Given the description of an element on the screen output the (x, y) to click on. 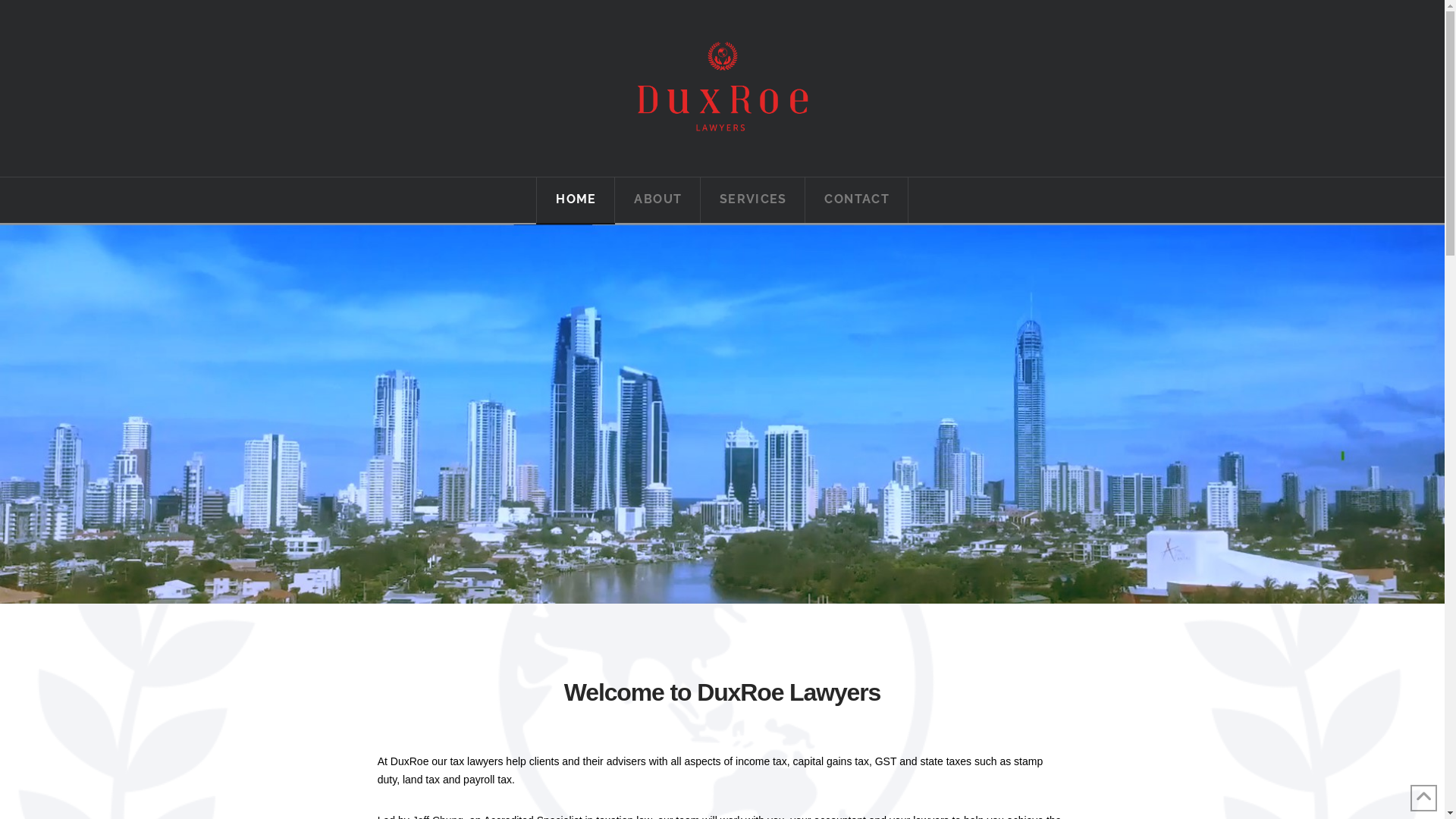
SERVICES Element type: text (753, 199)
HOME Element type: text (575, 199)
Back to Top Element type: hover (1423, 797)
CONTACT Element type: text (856, 199)
ABOUT Element type: text (657, 199)
